Given the description of an element on the screen output the (x, y) to click on. 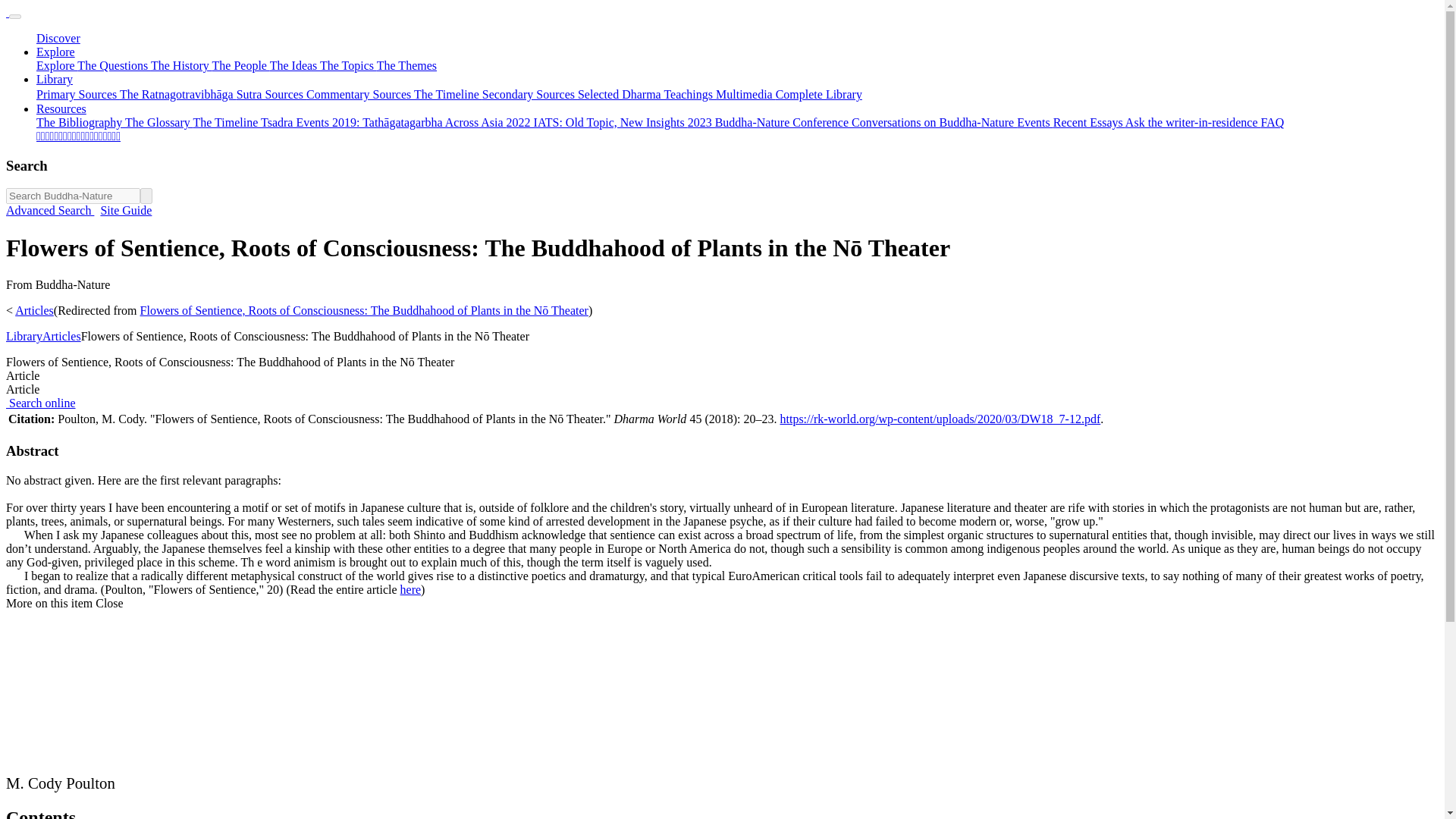
Explore (55, 51)
The Topics (348, 65)
FAQ (1272, 122)
Secondary Sources (529, 93)
Selected Dharma Teachings (647, 93)
The History (181, 65)
Discover (58, 38)
The People (240, 65)
Site Guide (125, 210)
Tsadra Events (295, 122)
